Given the description of an element on the screen output the (x, y) to click on. 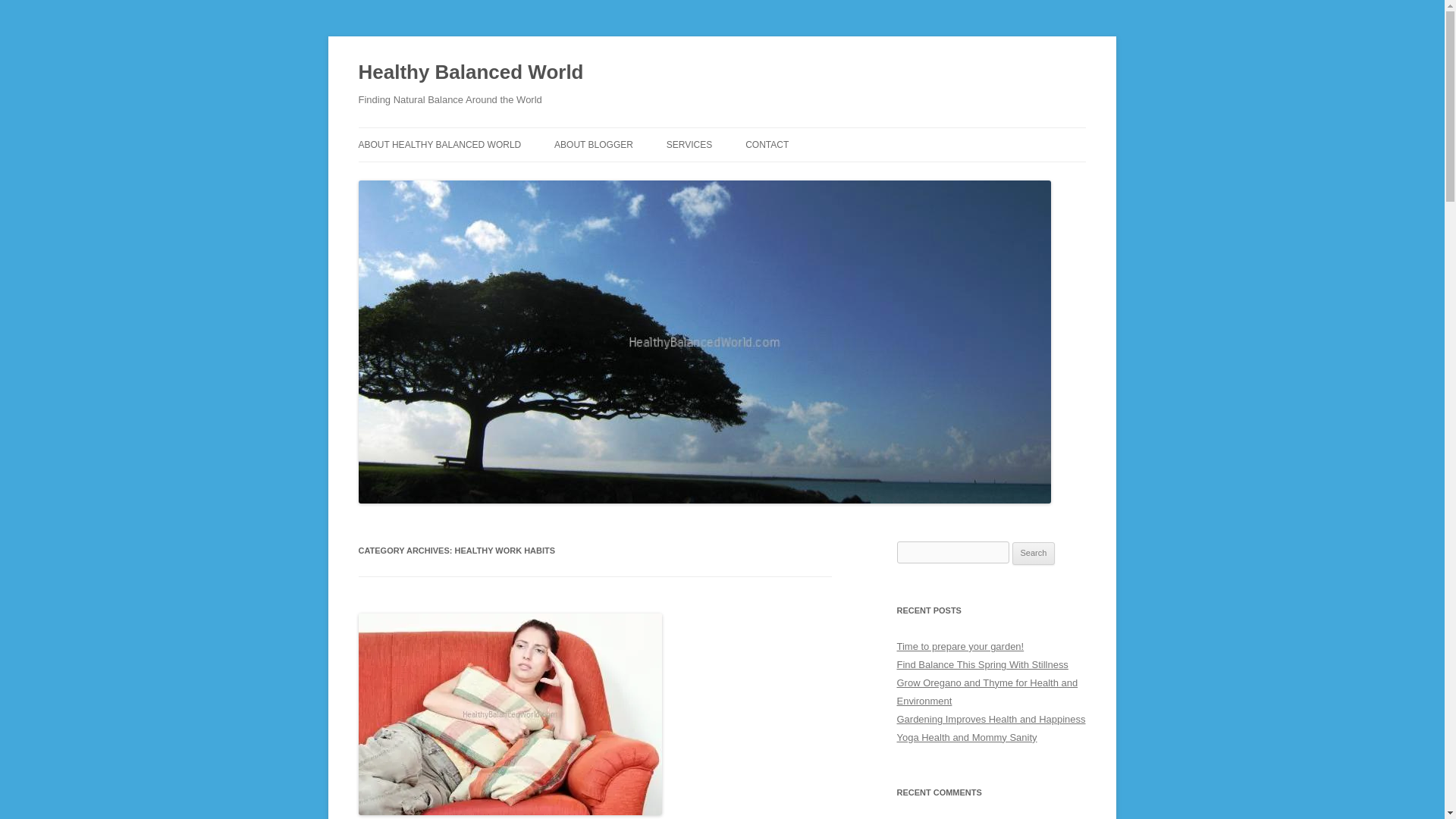
ABOUT HEALTHY BALANCED WORLD (439, 144)
ABOUT BLOGGER (593, 144)
Healthy Balanced World (470, 72)
CONTACT (767, 144)
WRITING (742, 176)
Healthy Balanced World (470, 72)
Search (1033, 553)
SERVICES (688, 144)
